Given the description of an element on the screen output the (x, y) to click on. 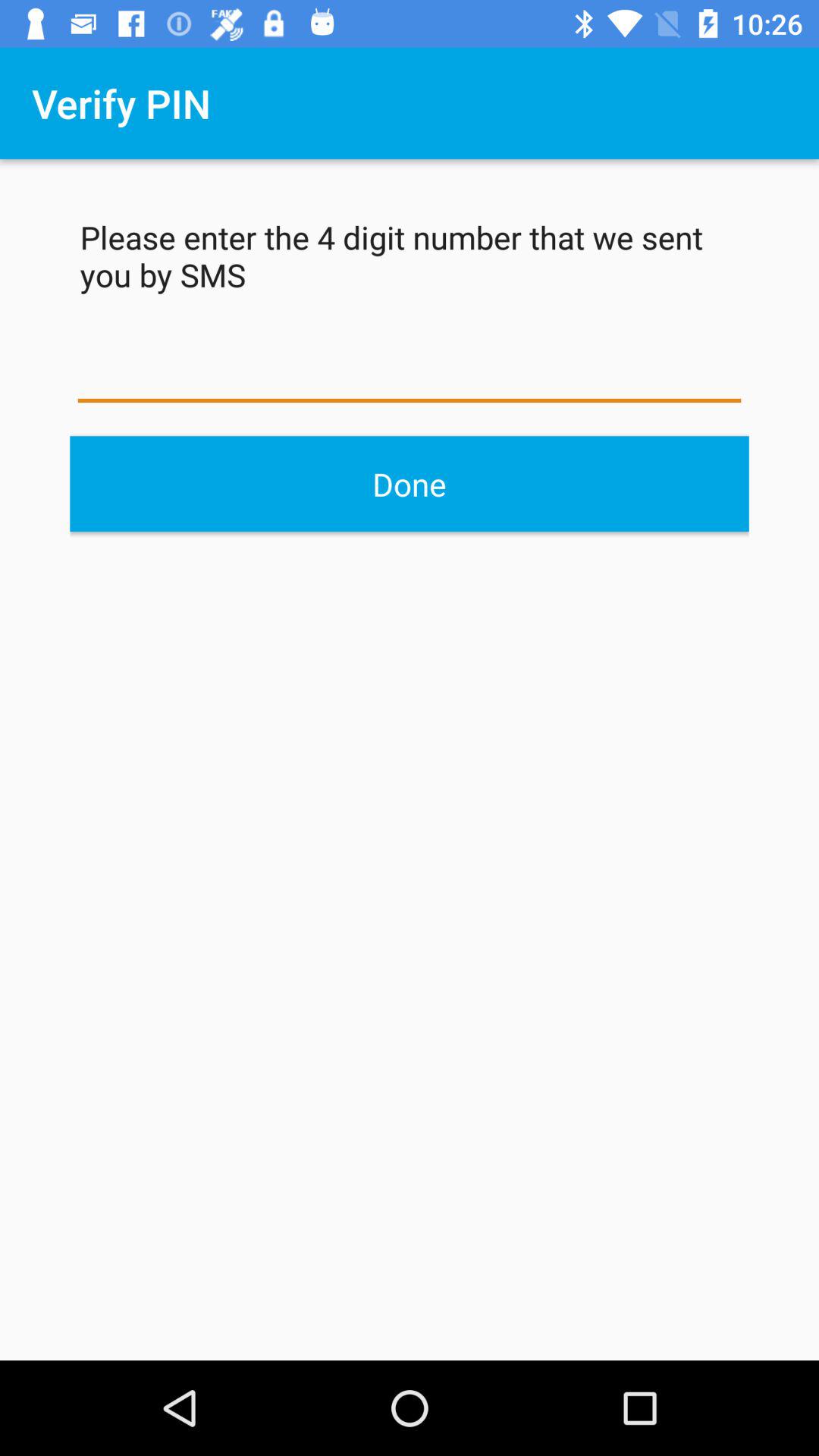
enter the pin you received (409, 371)
